Given the description of an element on the screen output the (x, y) to click on. 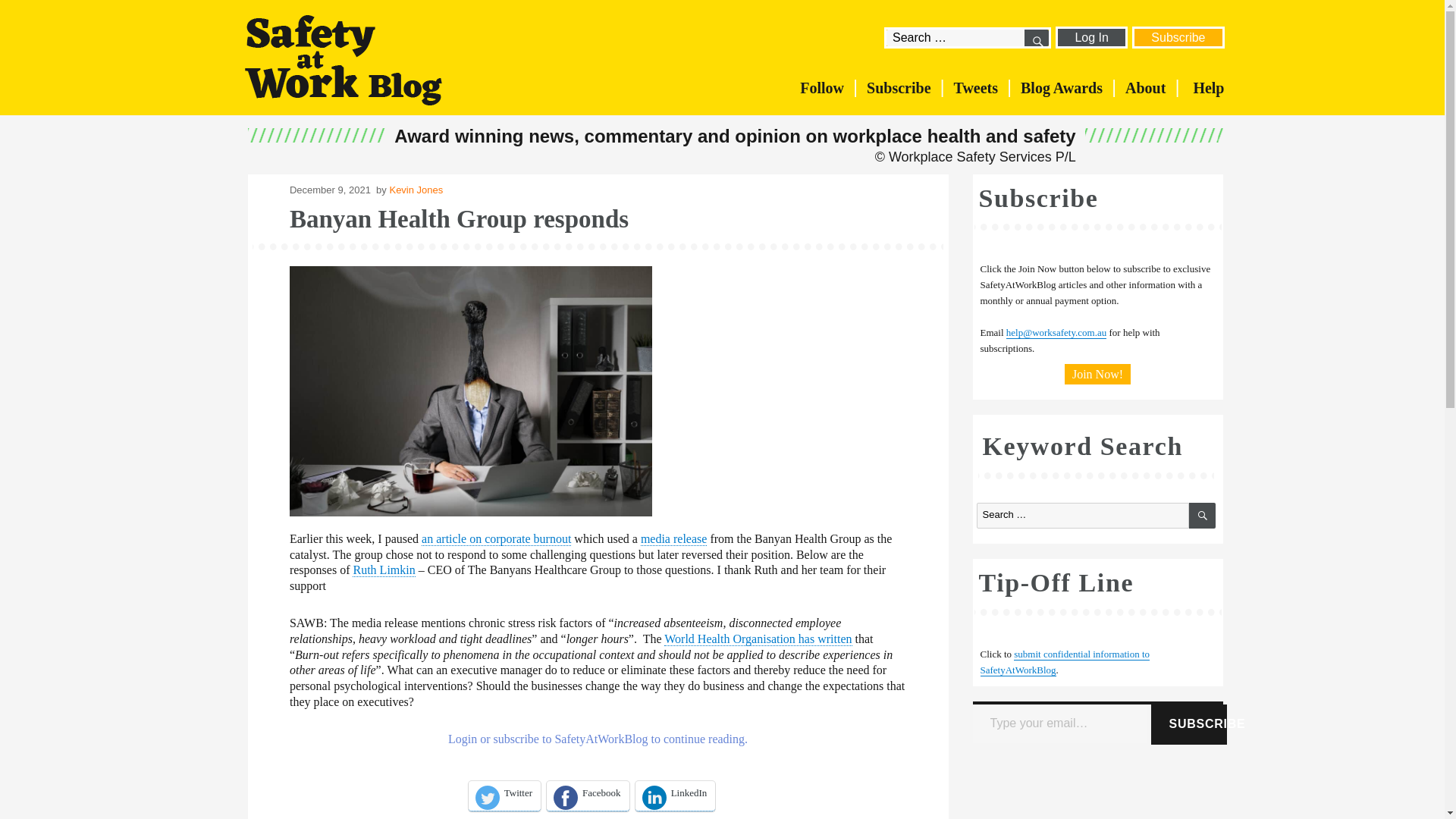
December 9, 2021 (330, 189)
Click to share on LinkedIn (675, 796)
an article on corporate burnout (496, 539)
Twitter (504, 796)
Help (1208, 87)
Tweets (975, 87)
World Health Organisation has written (757, 639)
LinkedIn (675, 796)
Subscribe (898, 87)
Click to share on Facebook (587, 796)
media release (673, 539)
Blog Awards (1061, 87)
SEARCH (1036, 37)
Follow (821, 87)
Ruth Limkin (383, 570)
